Given the description of an element on the screen output the (x, y) to click on. 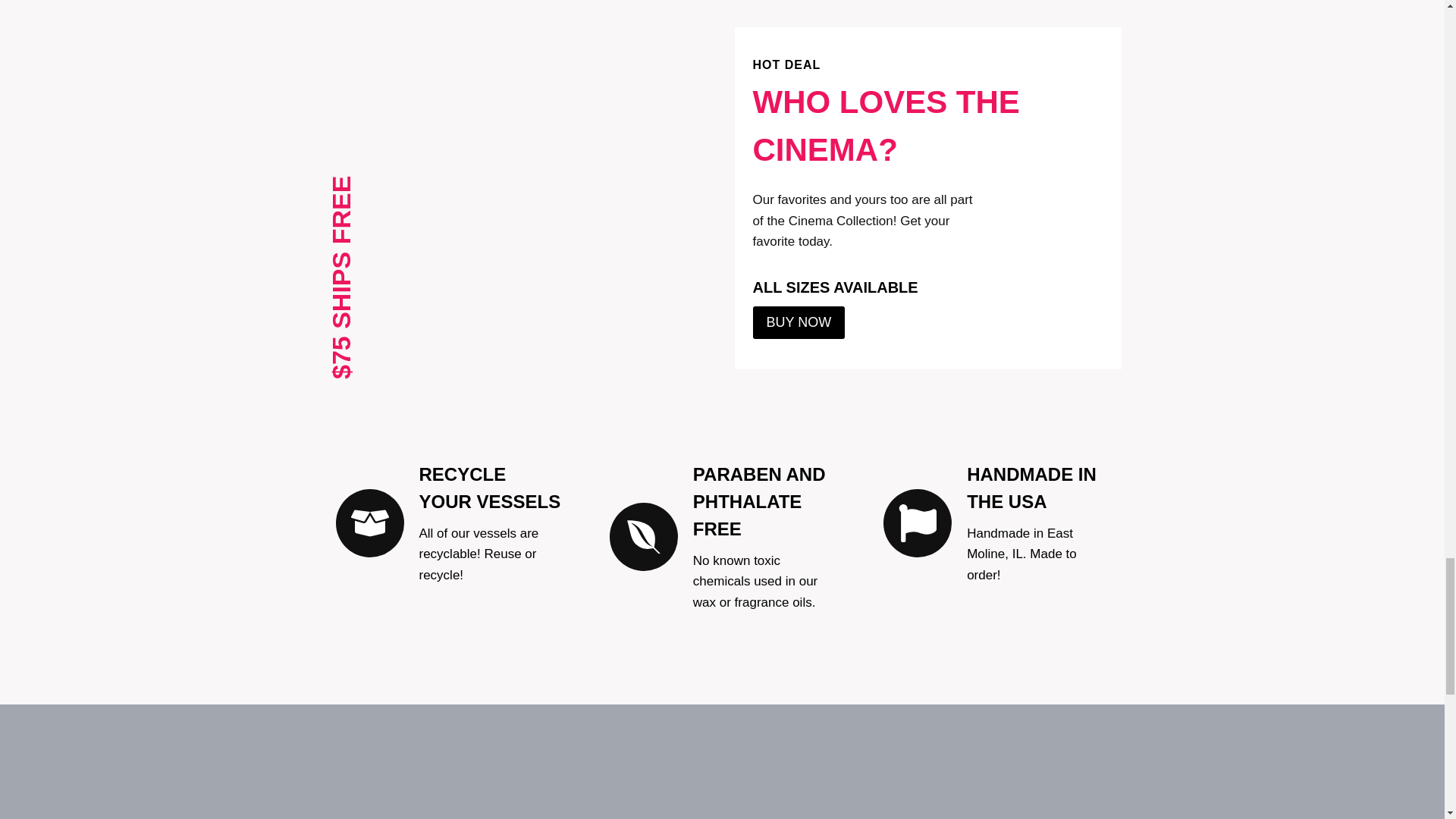
BUY NOW (798, 322)
